Given the description of an element on the screen output the (x, y) to click on. 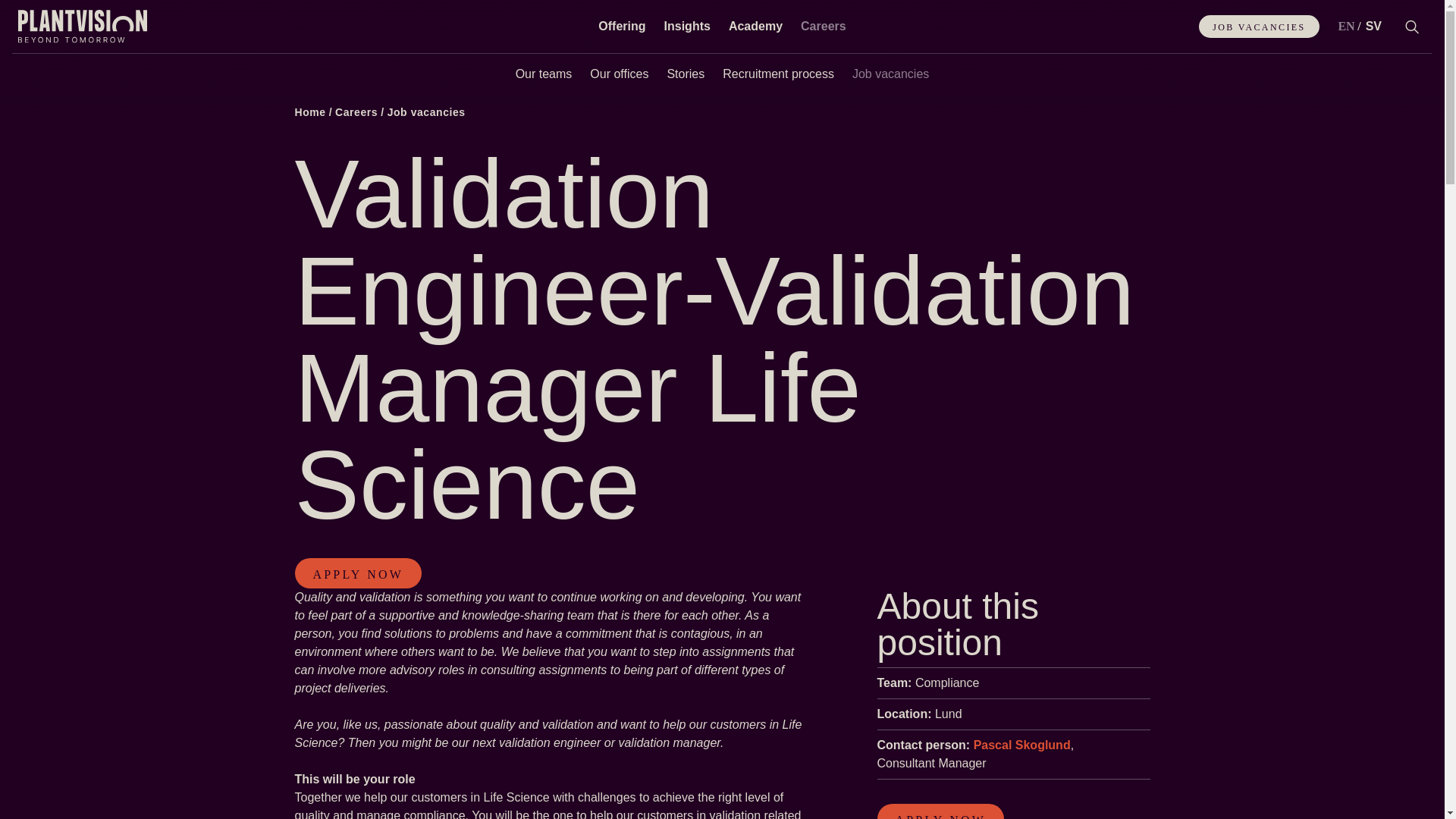
Careers (824, 26)
Insights (687, 26)
Academy (755, 26)
Recruitment process (778, 70)
Stories (685, 70)
Offering (621, 26)
Our teams (543, 70)
Our offices (619, 70)
Job vacancies (890, 70)
JOB VACANCIES (1258, 26)
